Given the description of an element on the screen output the (x, y) to click on. 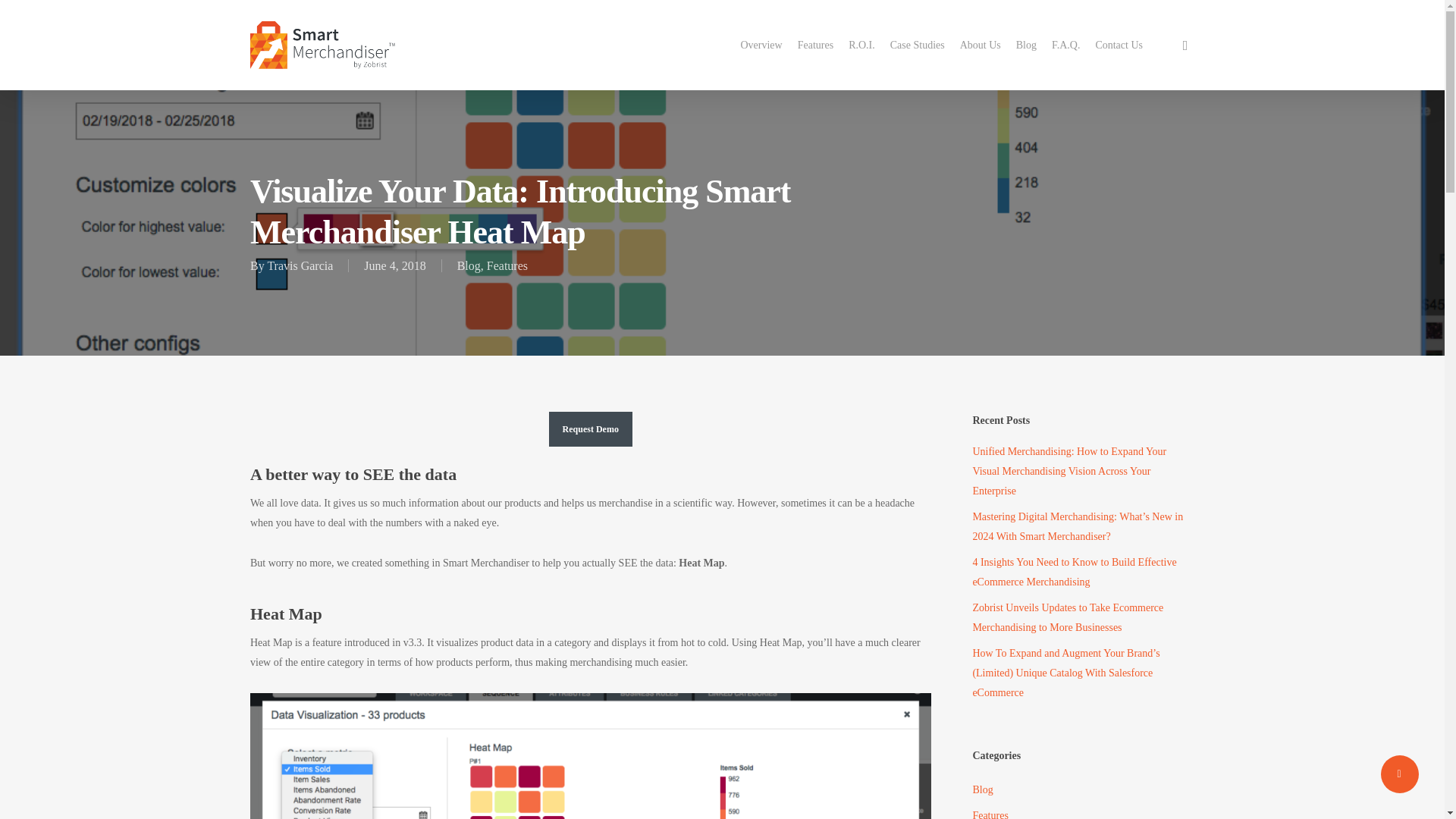
Contact Us (1118, 45)
About Us (980, 45)
Request Demo (589, 428)
Shift-click to edit this widget. (1082, 781)
Blog (468, 265)
F.A.Q. (1065, 45)
Case Studies (917, 45)
Posts by Travis Garcia (299, 265)
Blog (1026, 45)
